Given the description of an element on the screen output the (x, y) to click on. 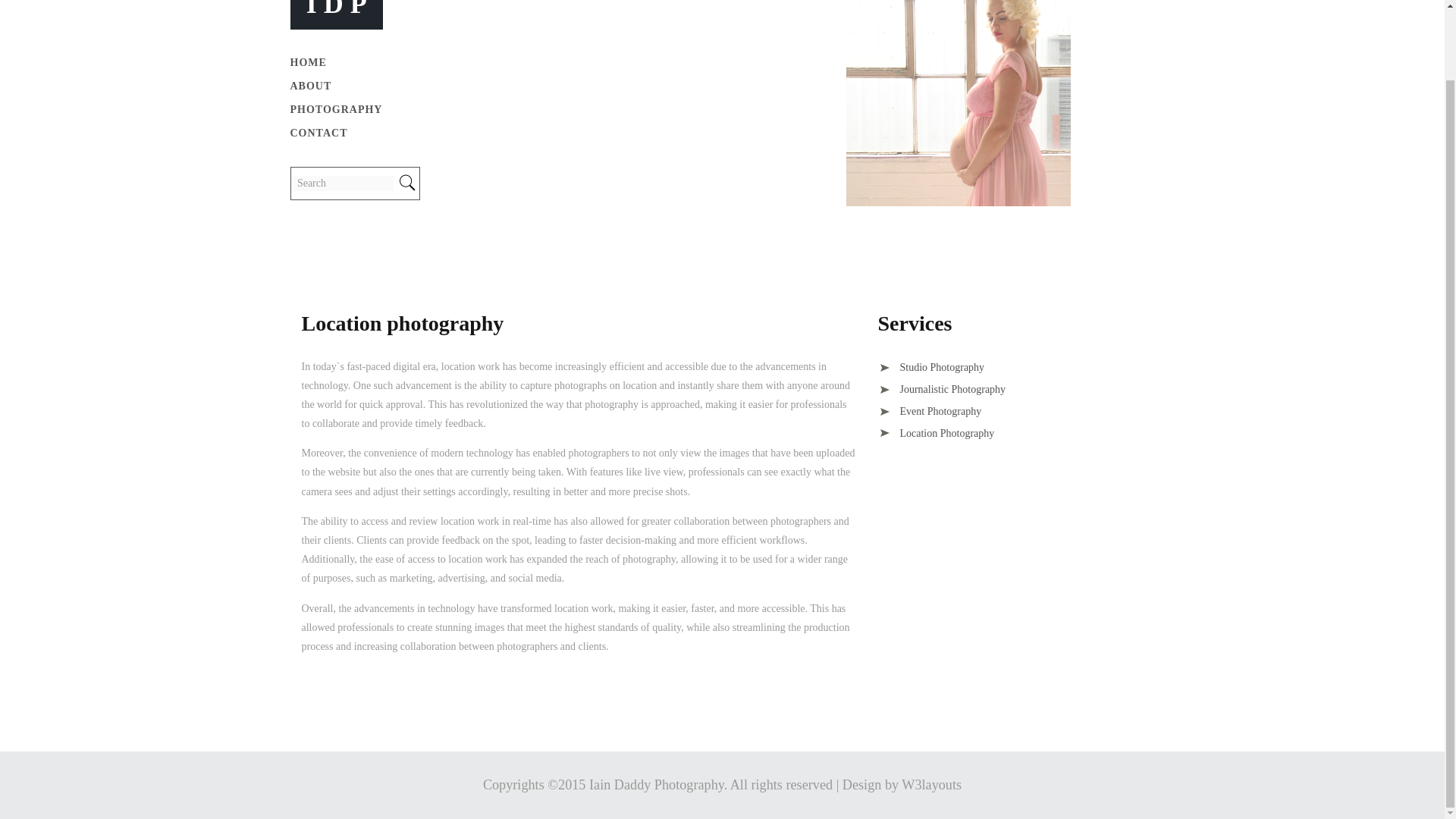
Studio Photography (931, 367)
HOME (307, 62)
Event Photography (929, 410)
I D P (335, 9)
CONTACT (318, 133)
ABOUT (310, 85)
Search (342, 183)
W3layouts (930, 784)
PHOTOGRAPHY (335, 109)
Journalistic Photography (941, 389)
